Given the description of an element on the screen output the (x, y) to click on. 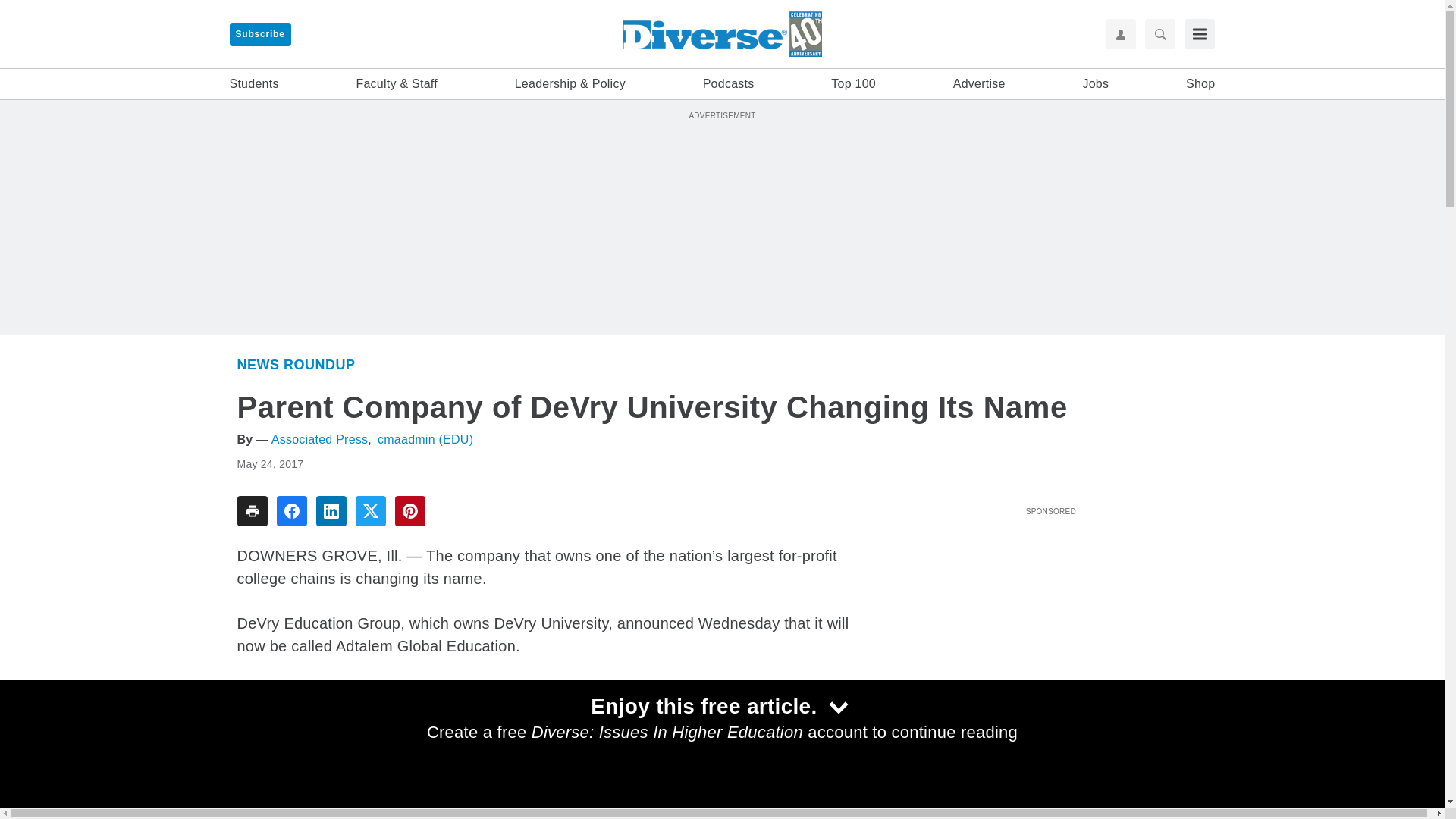
Share To linkedin (330, 511)
Share To print (250, 511)
Share To pinterest (409, 511)
News Roundup (295, 364)
Share To twitter (370, 511)
Podcasts (728, 84)
Jobs (1094, 84)
Top 100 (853, 84)
Subscribe (258, 33)
Students (253, 84)
